Given the description of an element on the screen output the (x, y) to click on. 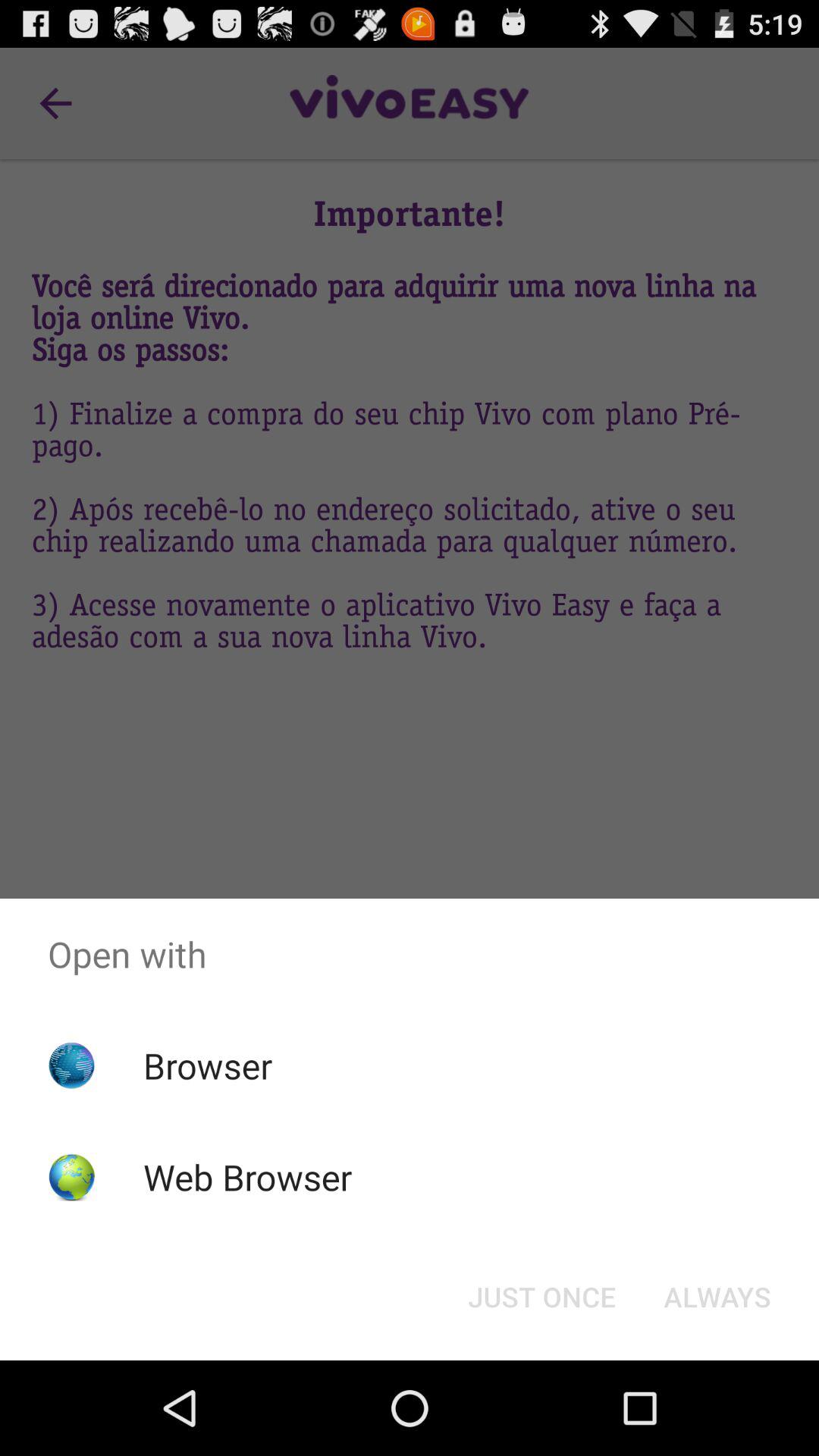
click item to the right of just once button (717, 1296)
